Given the description of an element on the screen output the (x, y) to click on. 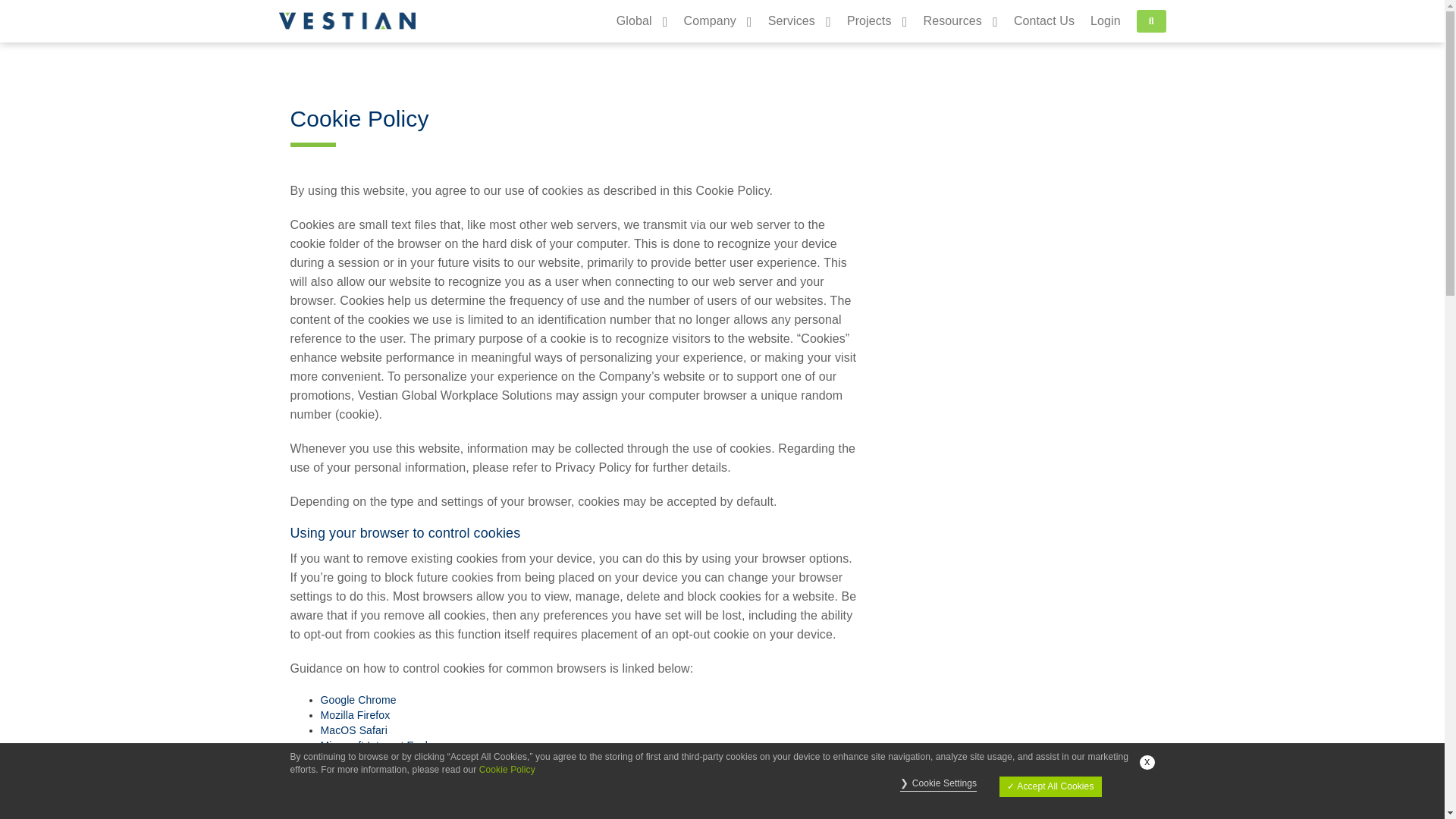
Company (710, 21)
Google Chrome (358, 699)
Microsoft Internet Explorer (383, 745)
MacOS Safari (353, 729)
Login (1105, 21)
Contact Us (1035, 21)
Projects (869, 21)
Mozilla Firefox (355, 715)
Resources (952, 21)
Services (791, 21)
